Given the description of an element on the screen output the (x, y) to click on. 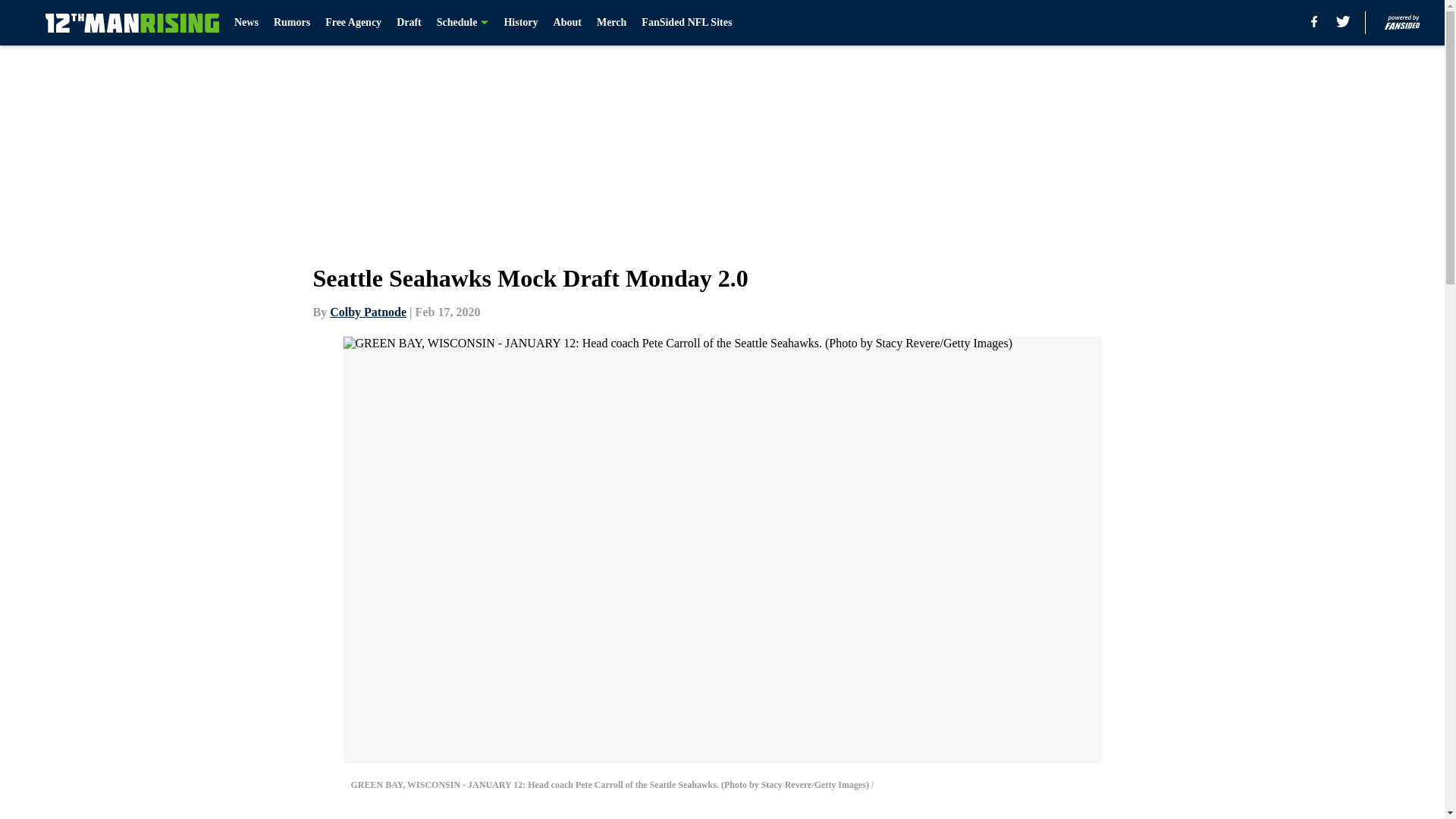
Free Agency (352, 22)
Colby Patnode (368, 311)
Merch (611, 22)
Rumors (291, 22)
News (246, 22)
History (520, 22)
Draft (409, 22)
About (566, 22)
FanSided NFL Sites (687, 22)
